Given the description of an element on the screen output the (x, y) to click on. 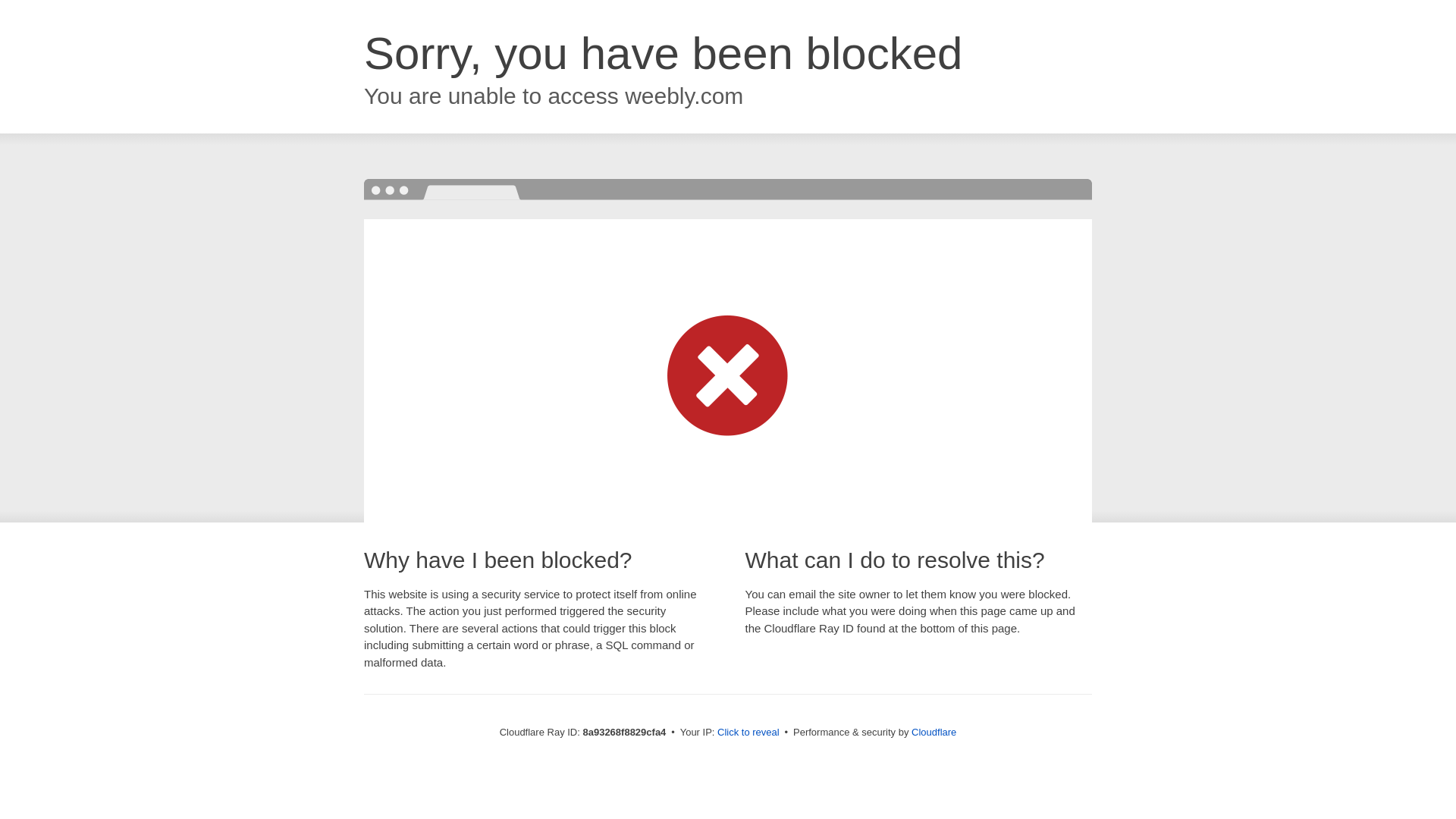
Click to reveal (747, 732)
Cloudflare (933, 731)
